Given the description of an element on the screen output the (x, y) to click on. 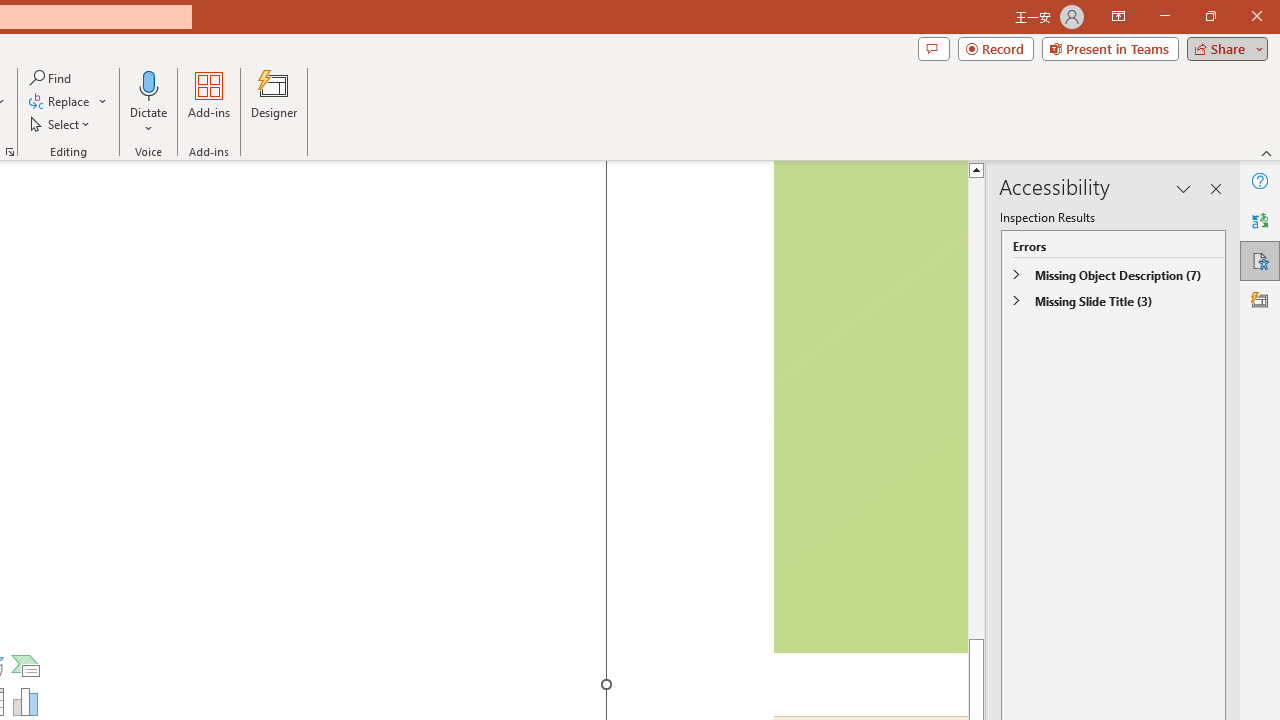
Insert a SmartArt Graphic (26, 665)
Insert Chart (26, 701)
Camera 5, No camera detected. (869, 407)
